Given the description of an element on the screen output the (x, y) to click on. 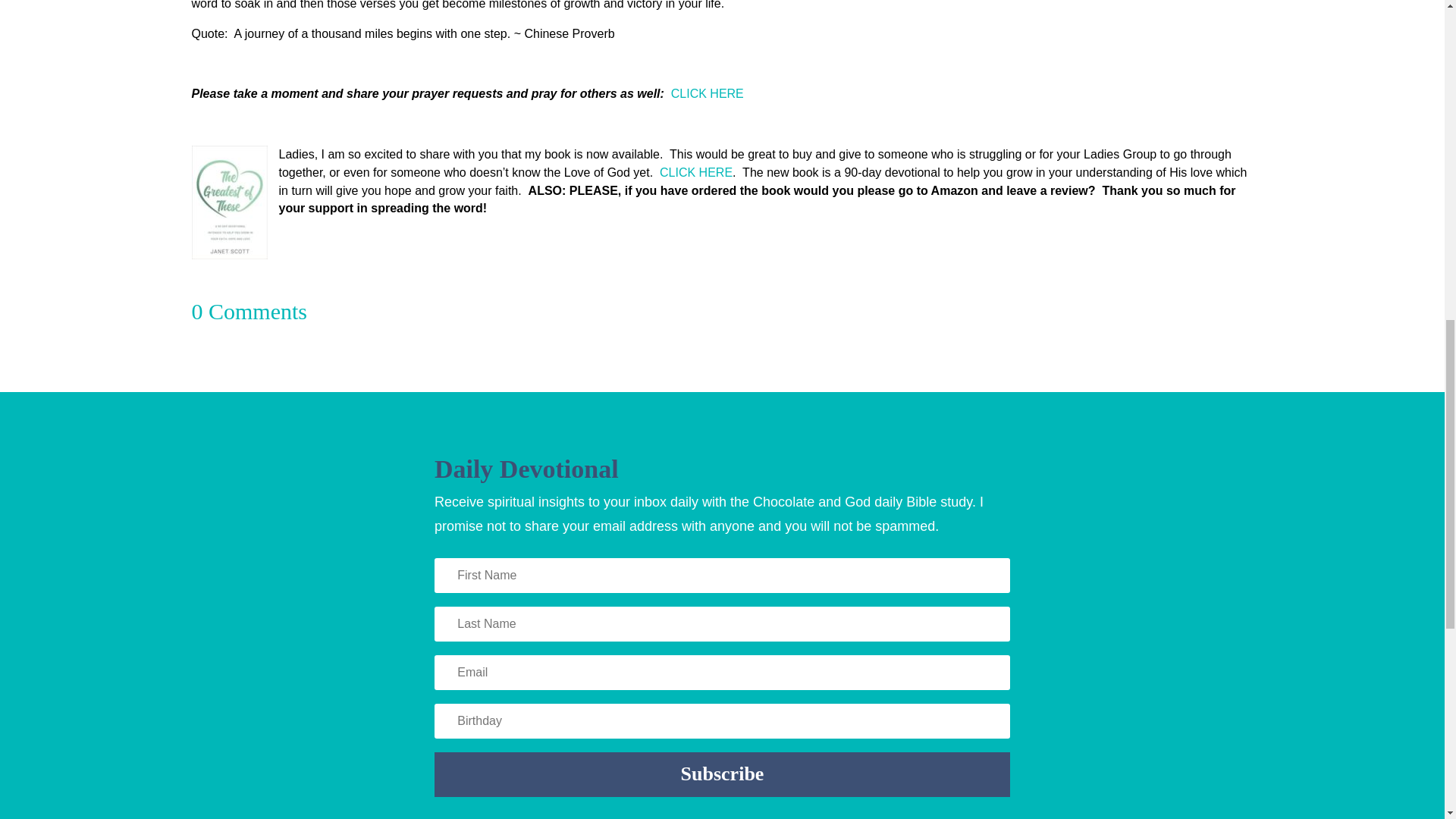
Subscribe (721, 774)
CLICK HERE (707, 92)
CLICK HERE (695, 172)
